Given the description of an element on the screen output the (x, y) to click on. 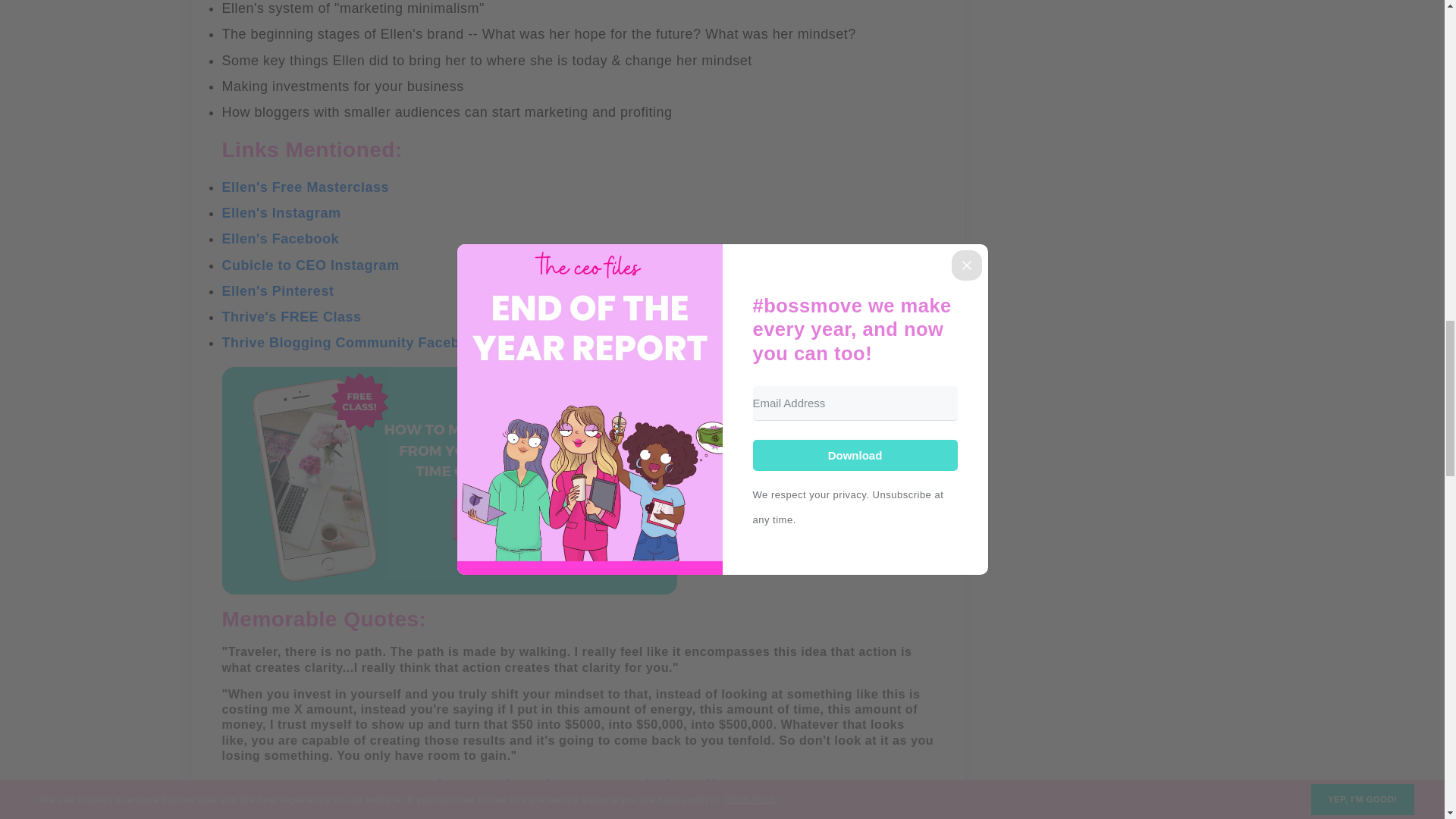
Cubicle to CEO Instagram (309, 264)
Ellen's Facebook (279, 238)
Ellen's Free Masterclass (304, 186)
Thrive Blogging Community Facebook Group (376, 342)
Ellen's Pinterest (277, 290)
Ellen's Instagram (280, 212)
FREE Class (321, 316)
Thrive's (248, 316)
